Given the description of an element on the screen output the (x, y) to click on. 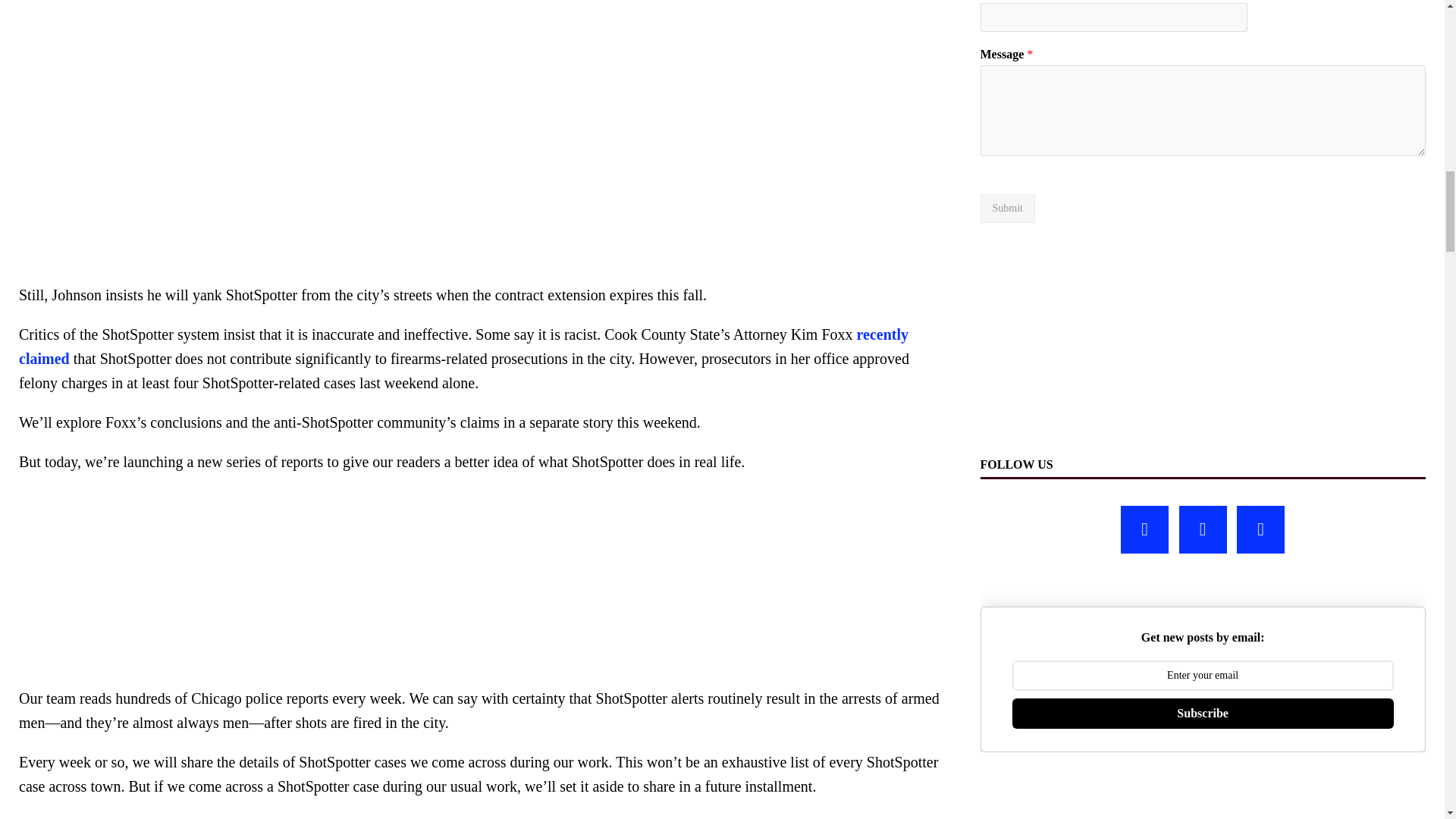
Submit (1007, 208)
recently claimed (463, 345)
Subscribe (1202, 713)
